Given the description of an element on the screen output the (x, y) to click on. 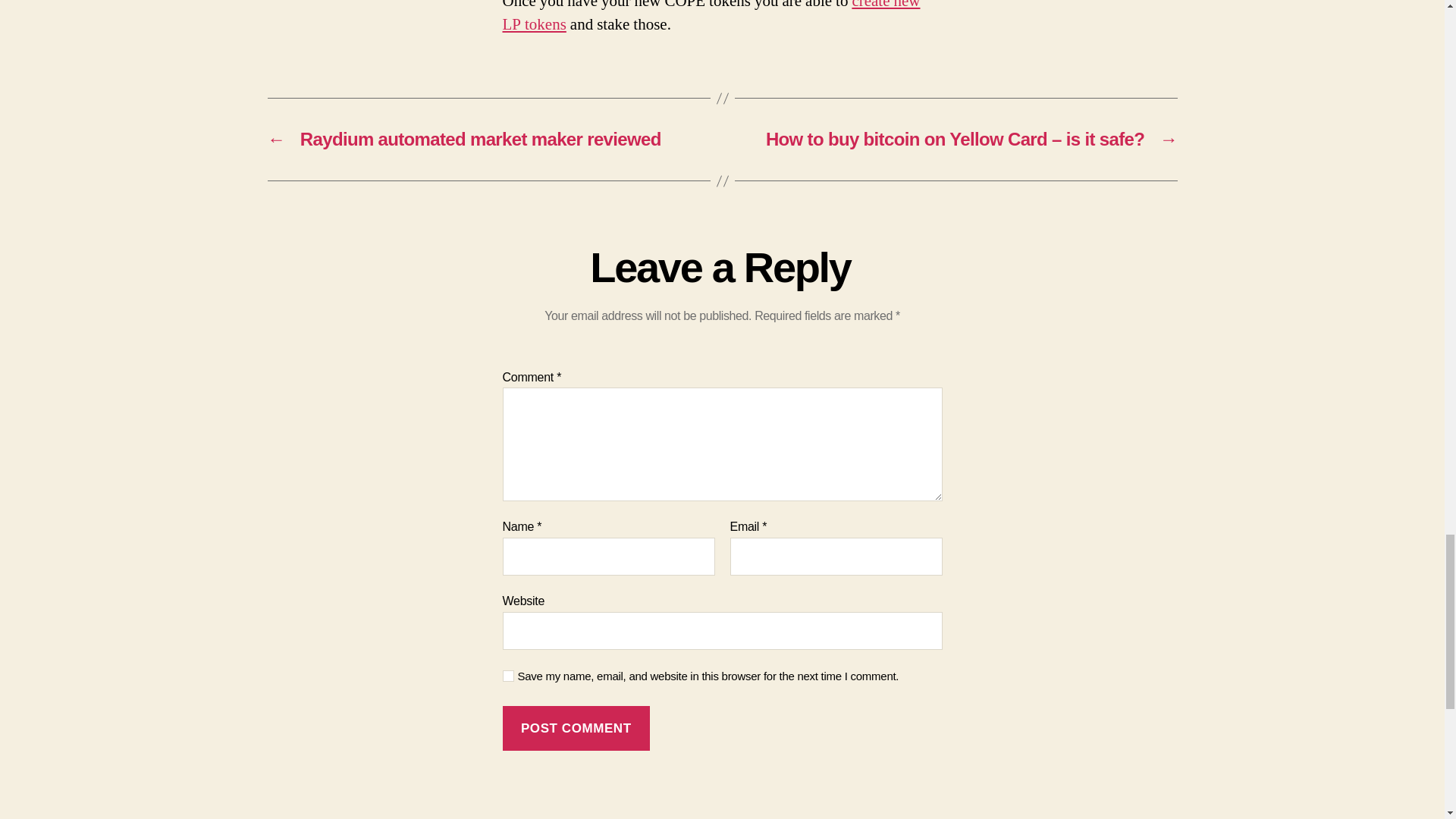
yes (507, 675)
create new LP tokens (711, 17)
Post Comment (575, 728)
Post Comment (575, 728)
